Given the description of an element on the screen output the (x, y) to click on. 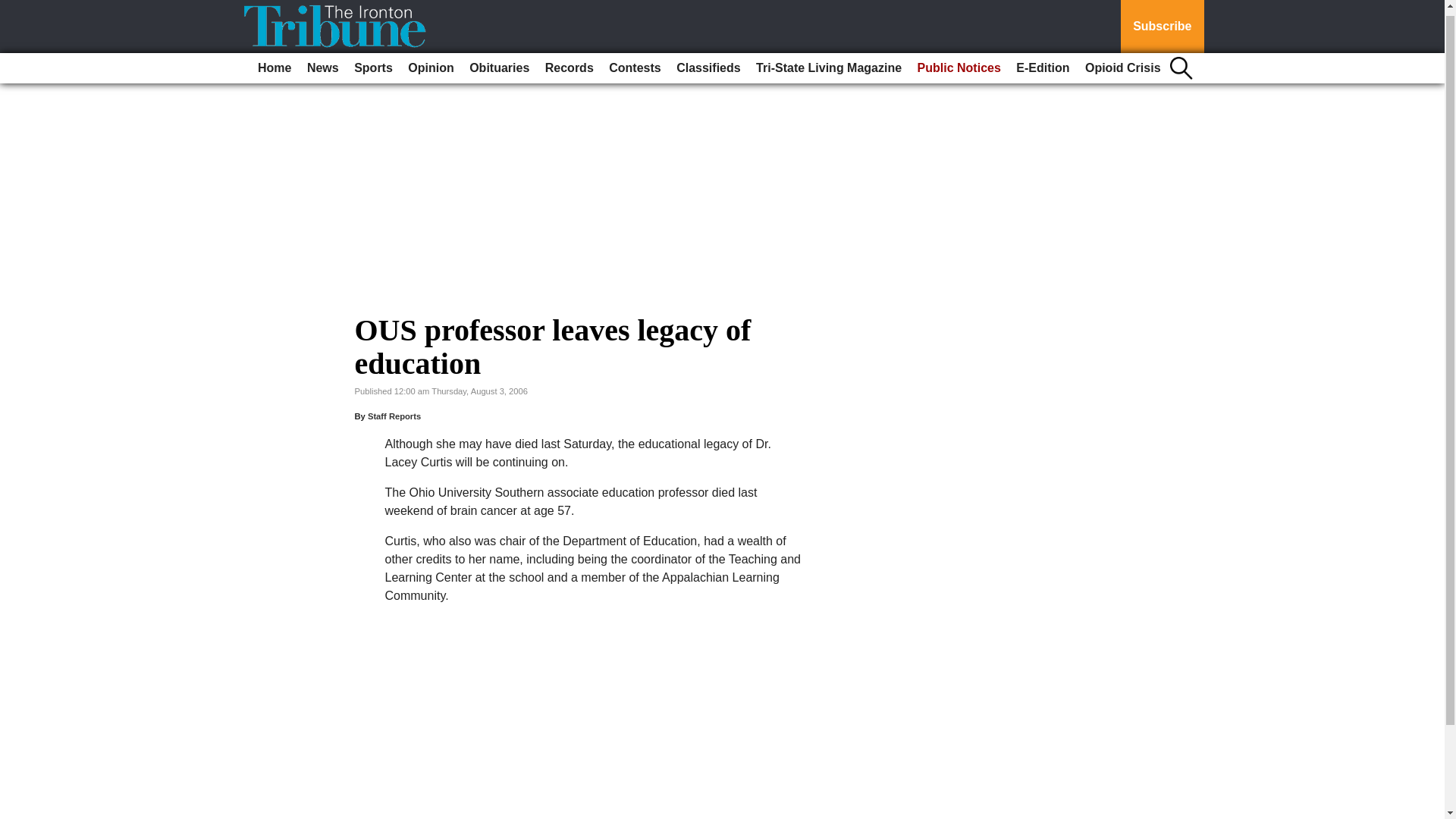
Public Notices (959, 62)
Opioid Crisis (1122, 62)
Tri-State Living Magazine (828, 62)
Staff Reports (394, 415)
Obituaries (499, 62)
Subscribe (1162, 23)
Contests (634, 62)
Opinion (430, 62)
Go (13, 6)
Sports (372, 62)
News (323, 62)
Records (568, 62)
E-Edition (1042, 62)
Home (274, 62)
Classifieds (707, 62)
